Given the description of an element on the screen output the (x, y) to click on. 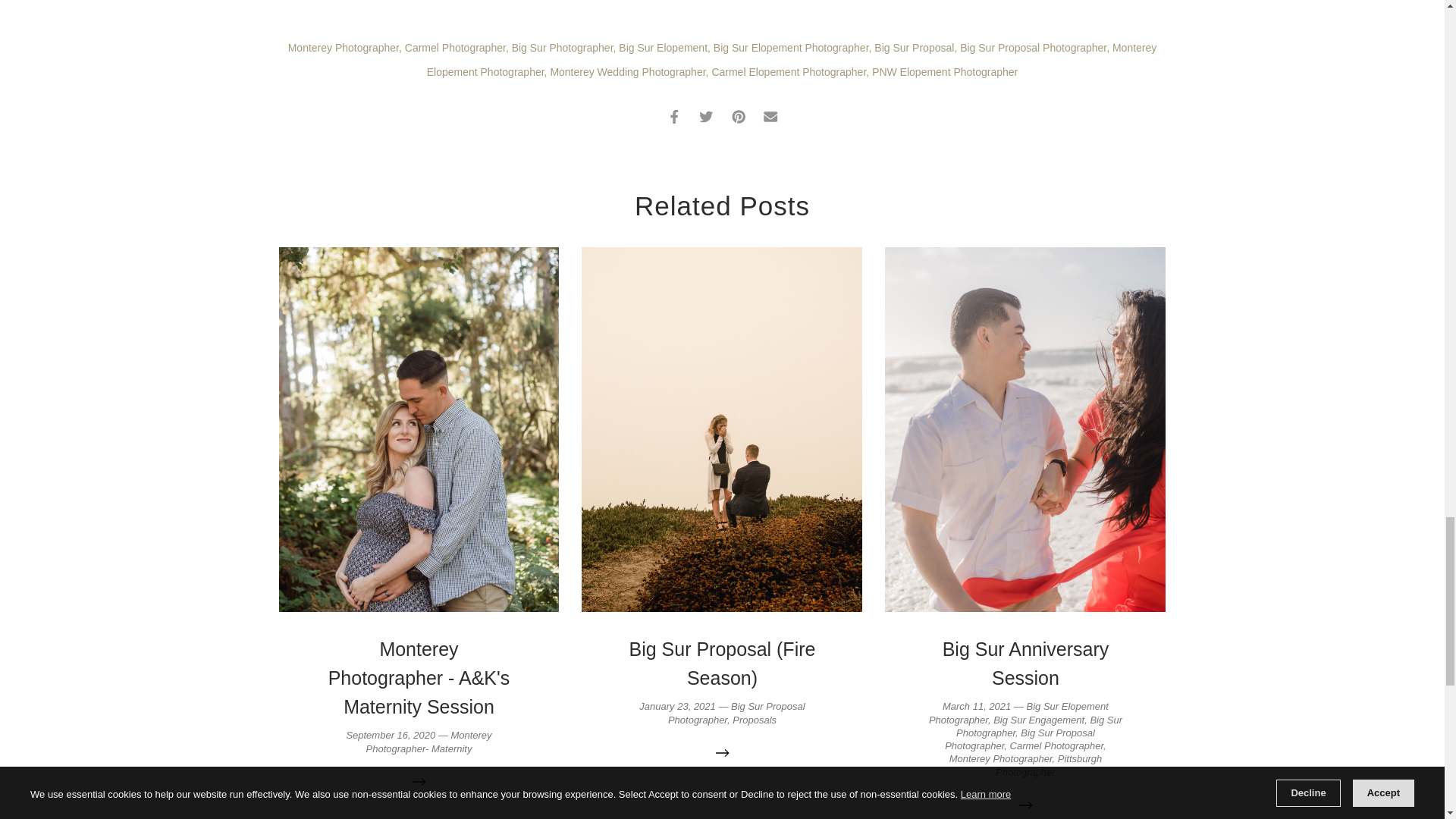
Monterey Photographer (343, 47)
Big Sur Elopement (662, 47)
Carmel Photographer (454, 47)
Big Sur Proposal (914, 47)
Big Sur Elopement Photographer (791, 47)
Big Sur Photographer (562, 47)
